Given the description of an element on the screen output the (x, y) to click on. 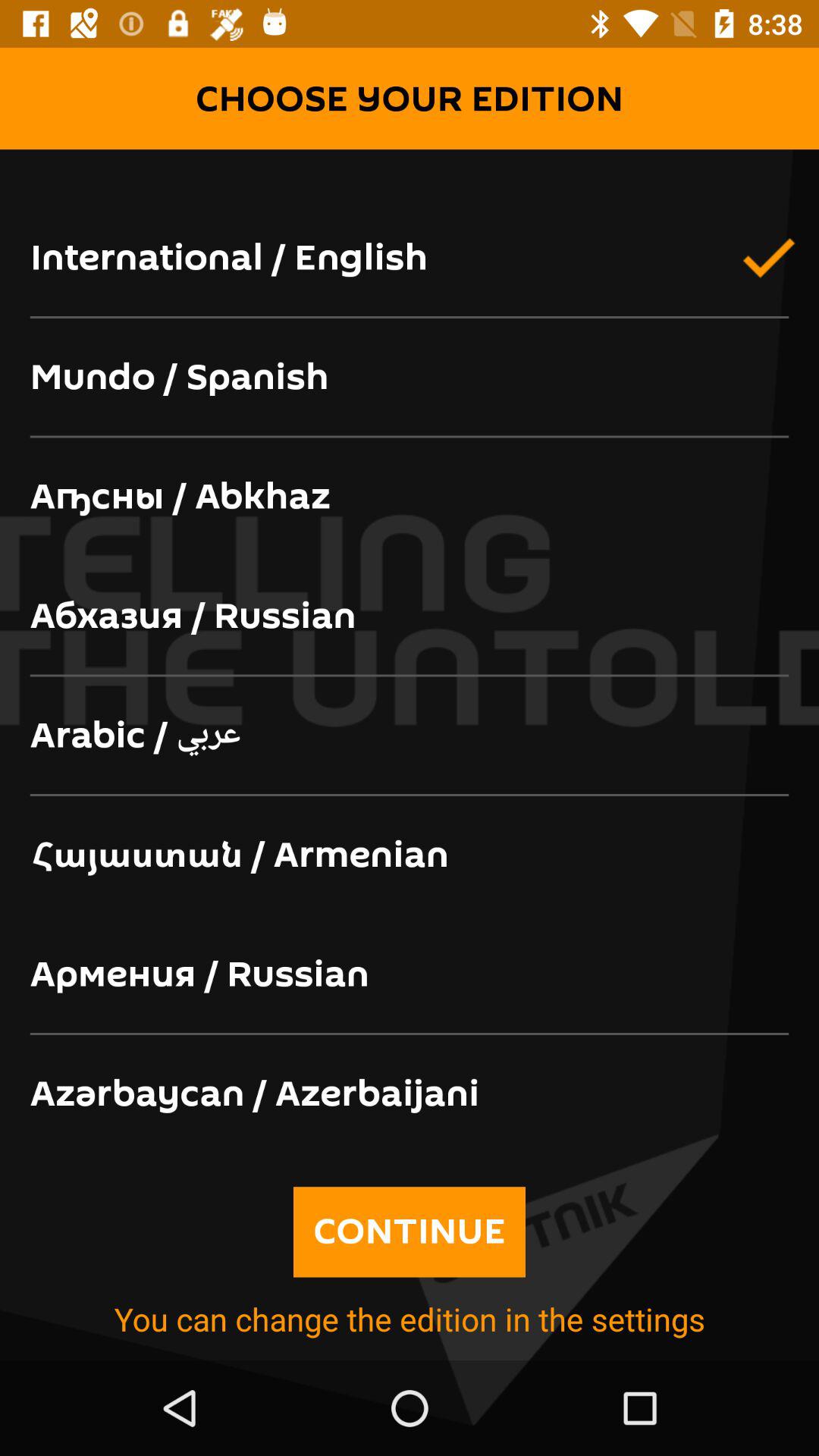
launch the icon above the mundo / spanish icon (409, 258)
